Given the description of an element on the screen output the (x, y) to click on. 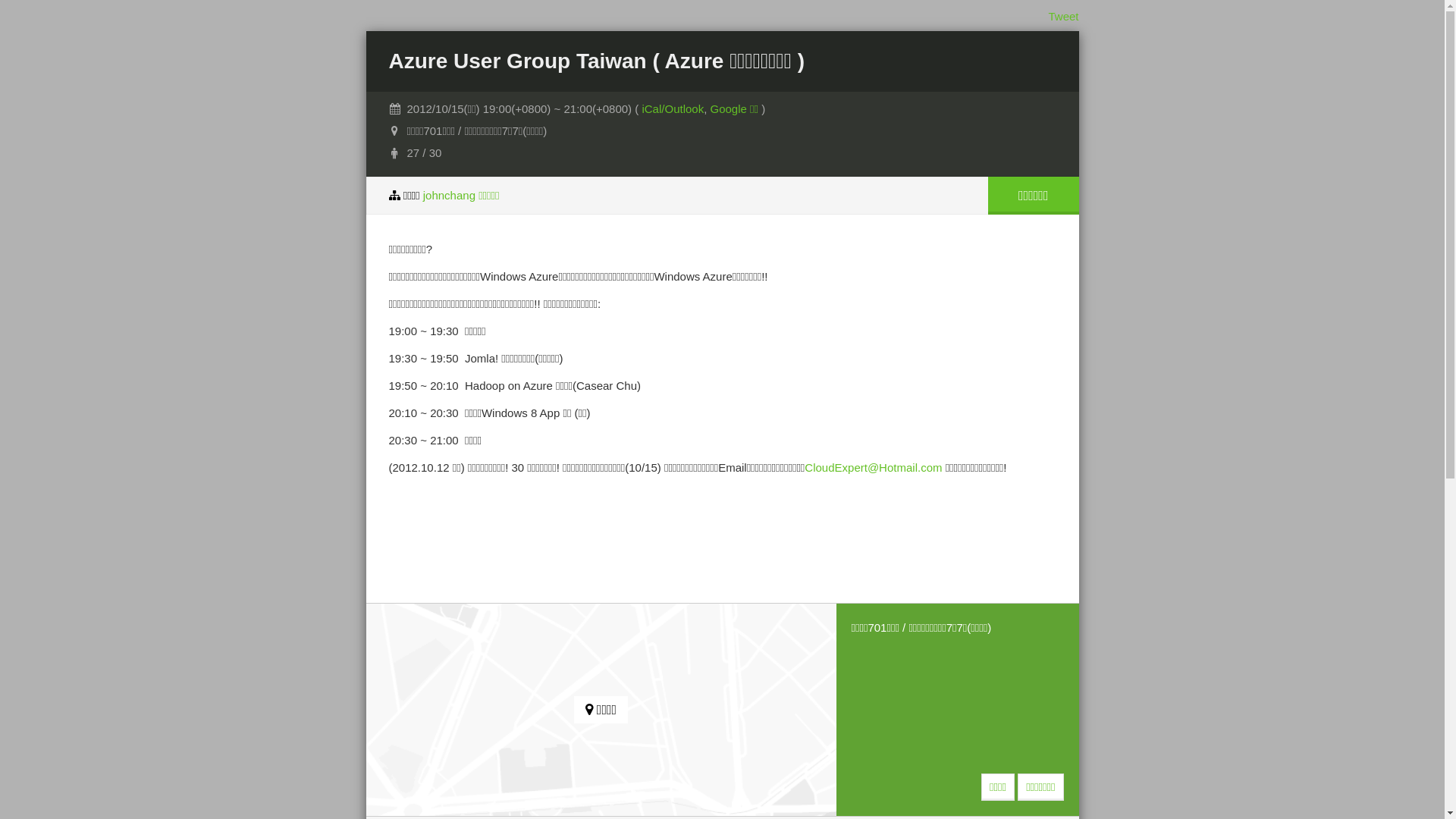
iCal/Outlook Element type: text (672, 108)
Tweet Element type: text (1063, 15)
CloudExpert@Hotmail.com Element type: text (872, 467)
